Given the description of an element on the screen output the (x, y) to click on. 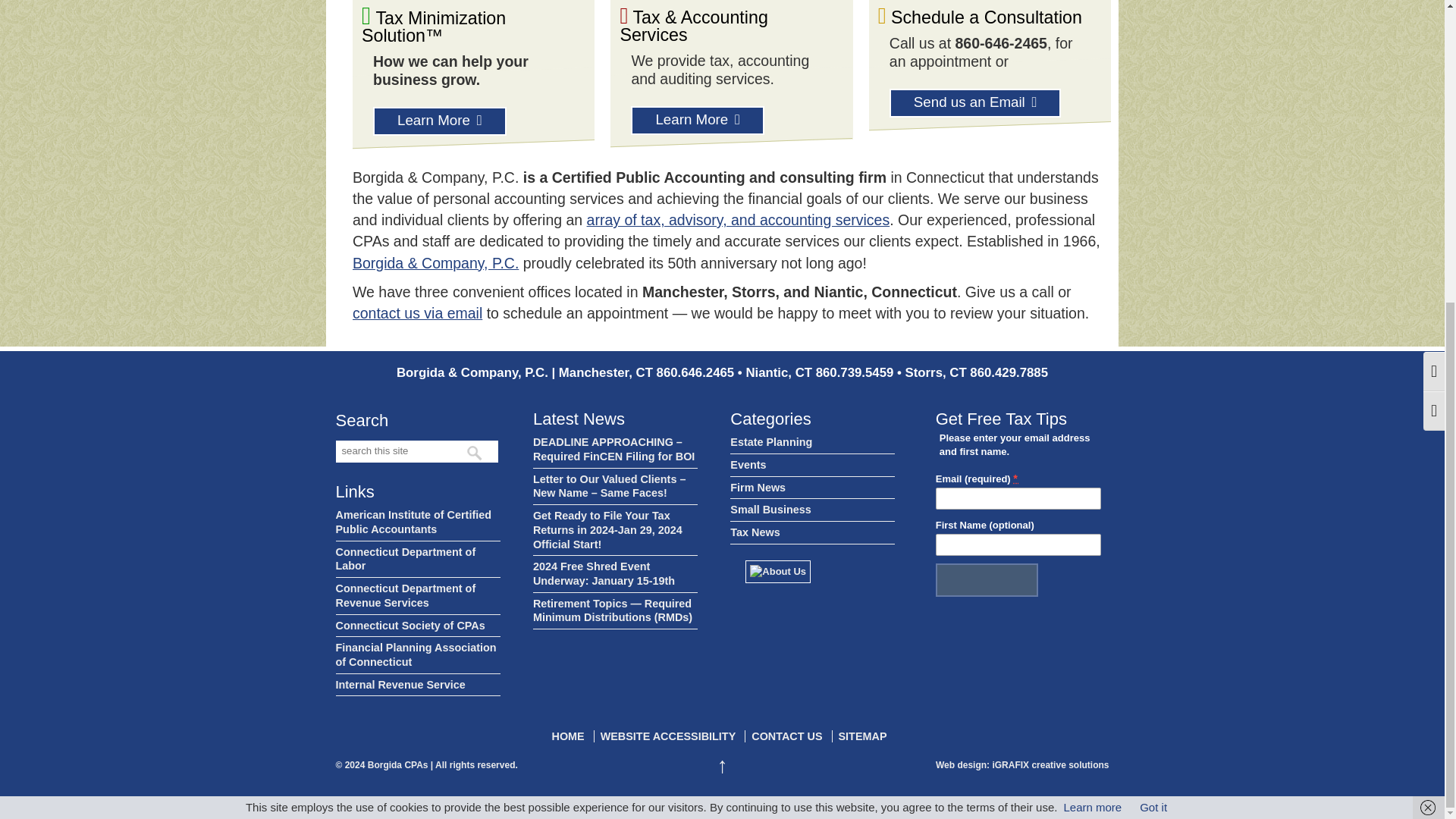
array of tax, advisory, and accounting services (737, 219)
Subscribe (987, 580)
Learn More (439, 121)
Go (476, 451)
Learn More (697, 120)
Send us an Email (975, 102)
